Given the description of an element on the screen output the (x, y) to click on. 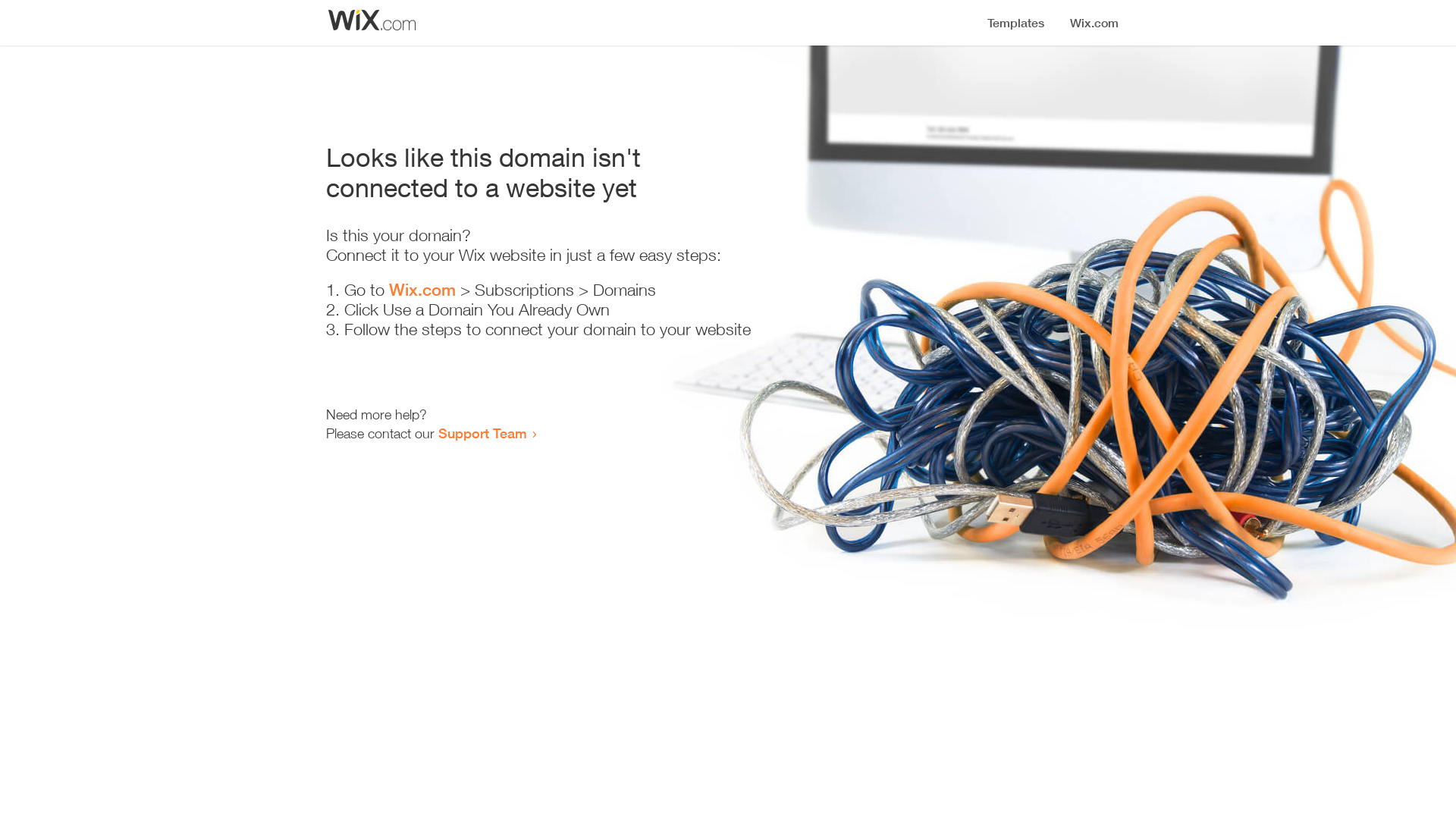
Wix.com Element type: text (422, 289)
Support Team Element type: text (482, 432)
